Given the description of an element on the screen output the (x, y) to click on. 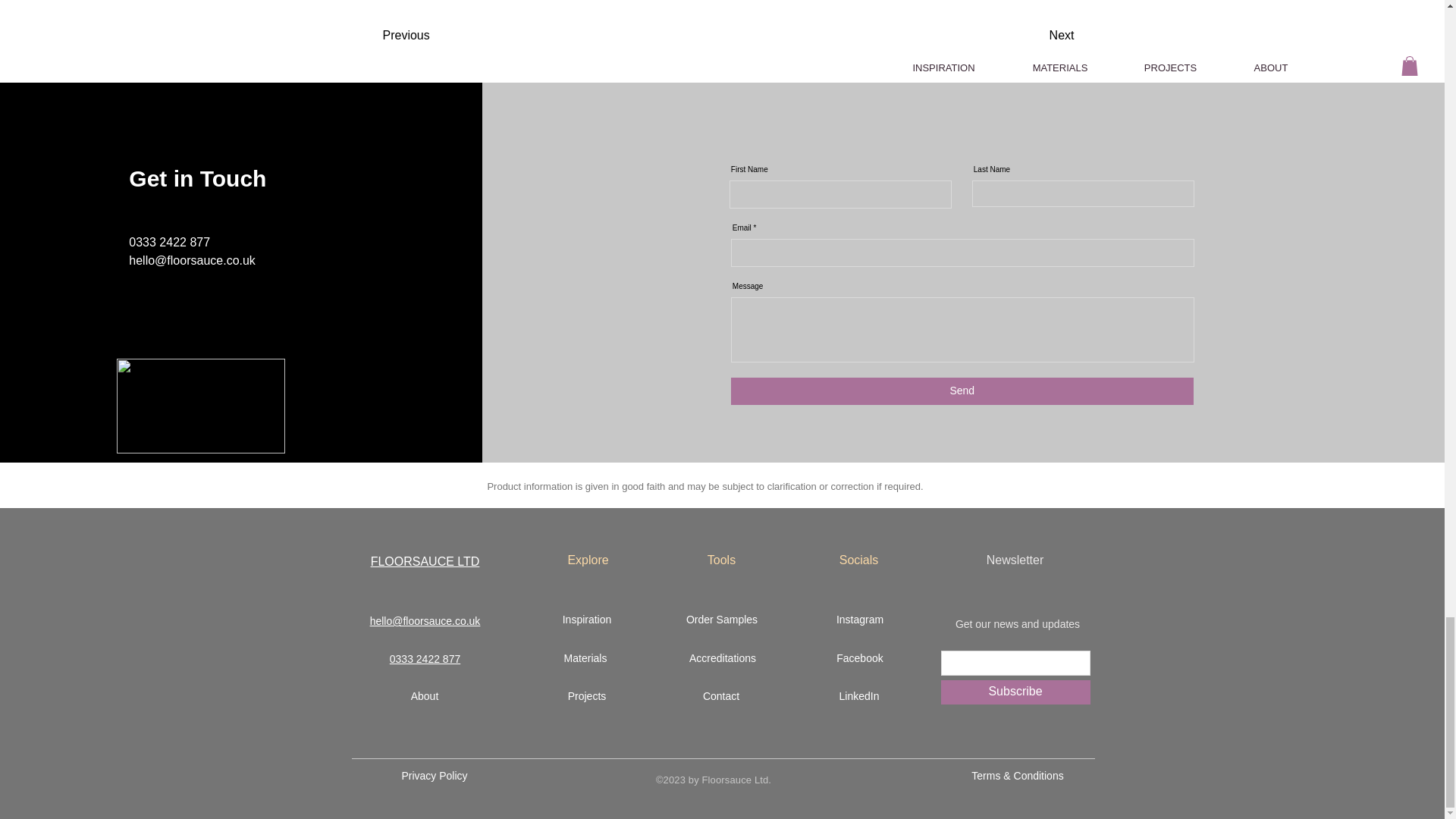
Previous (424, 35)
Next (1032, 35)
Send (961, 390)
FLOORSAUCE LTD (425, 561)
0333 2422 877 (425, 658)
